Given the description of an element on the screen output the (x, y) to click on. 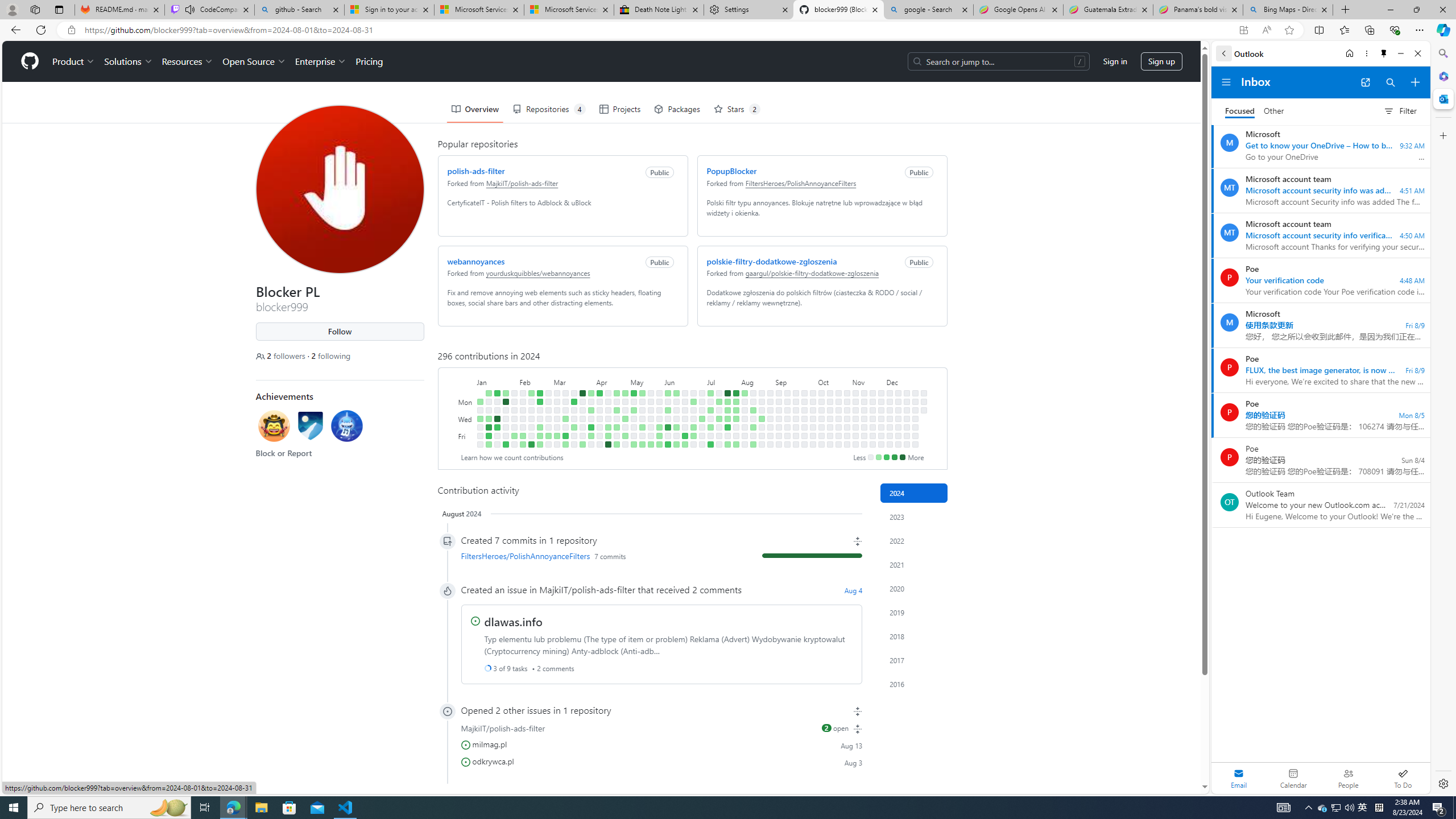
No contributions on September 29th. (812, 392)
No contributions on October 4th. (812, 435)
No contributions on May 29th. (658, 418)
No contributions on July 18th. (718, 427)
No contributions on August 19th. (761, 401)
No contributions on February 20th. (539, 410)
2023 (913, 516)
2 contributions on July 11th. (710, 427)
2 contributions on July 3rd. (701, 418)
No contributions on November 11th. (863, 401)
2 followers  (280, 355)
3 contributions on August 13th. (753, 410)
No contributions on March 11th. (565, 401)
